Given the description of an element on the screen output the (x, y) to click on. 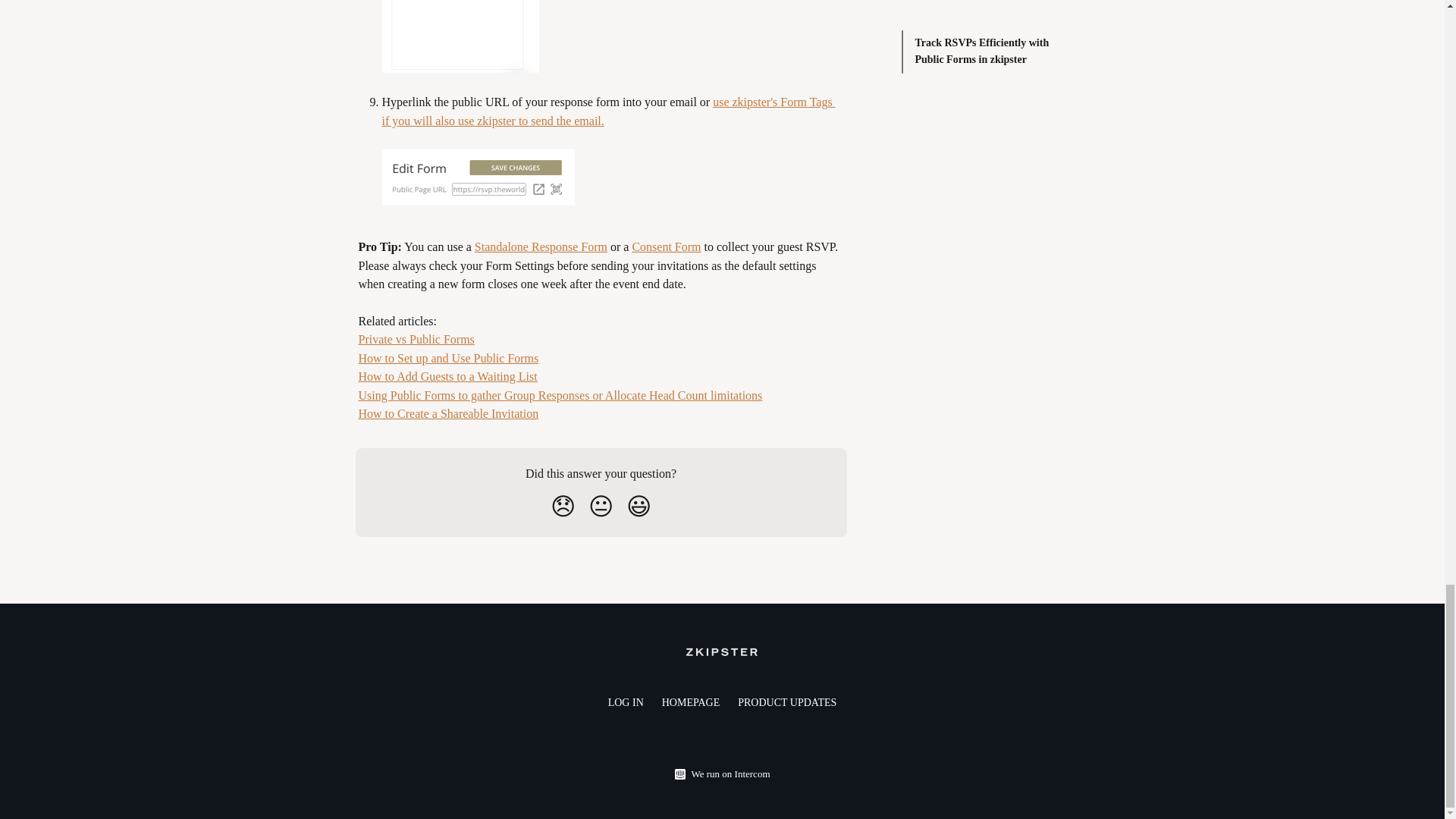
How to Add Guests to a Waiting List (447, 376)
Standalone Response Form (540, 246)
LOG IN (625, 702)
Smiley (638, 506)
How to Create a Shareable Invitation (448, 413)
Consent Form (665, 246)
How to Set up and Use Public Forms (448, 358)
Neutral (600, 506)
